Given the description of an element on the screen output the (x, y) to click on. 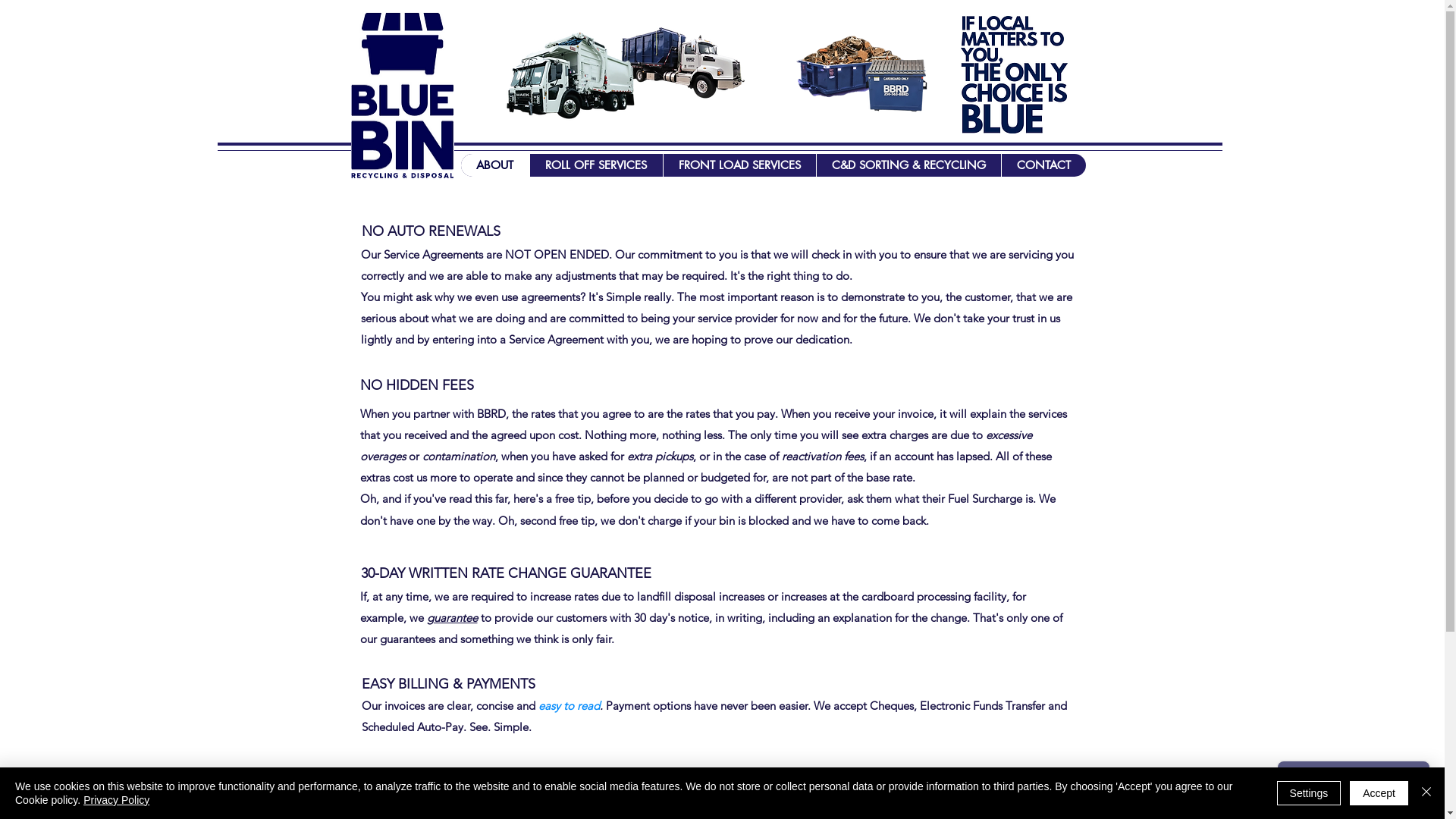
Screenshot 2023-08-29 092615.png Element type: hover (401, 94)
TTJul18-QS-MackLR-1-1024x683-removebg_edited.png Element type: hover (565, 74)
ABOUT Element type: text (495, 164)
image.png Element type: hover (1019, 74)
Settings Element type: text (1309, 793)
Accept Element type: text (1378, 793)
FRONT LOAD SERVICES Element type: text (738, 164)
C&D SORTING & RECYCLING Element type: text (908, 164)
CONTACT Element type: text (1043, 164)
ROLL OFF SERVICES Element type: text (595, 164)
Privacy Policy Element type: text (116, 799)
20190906_113357-removebg-preview_edited.png Element type: hover (895, 85)
bbrd_truck-removebg1_edited.png Element type: hover (679, 62)
easy to read Element type: text (568, 705)
